Given the description of an element on the screen output the (x, y) to click on. 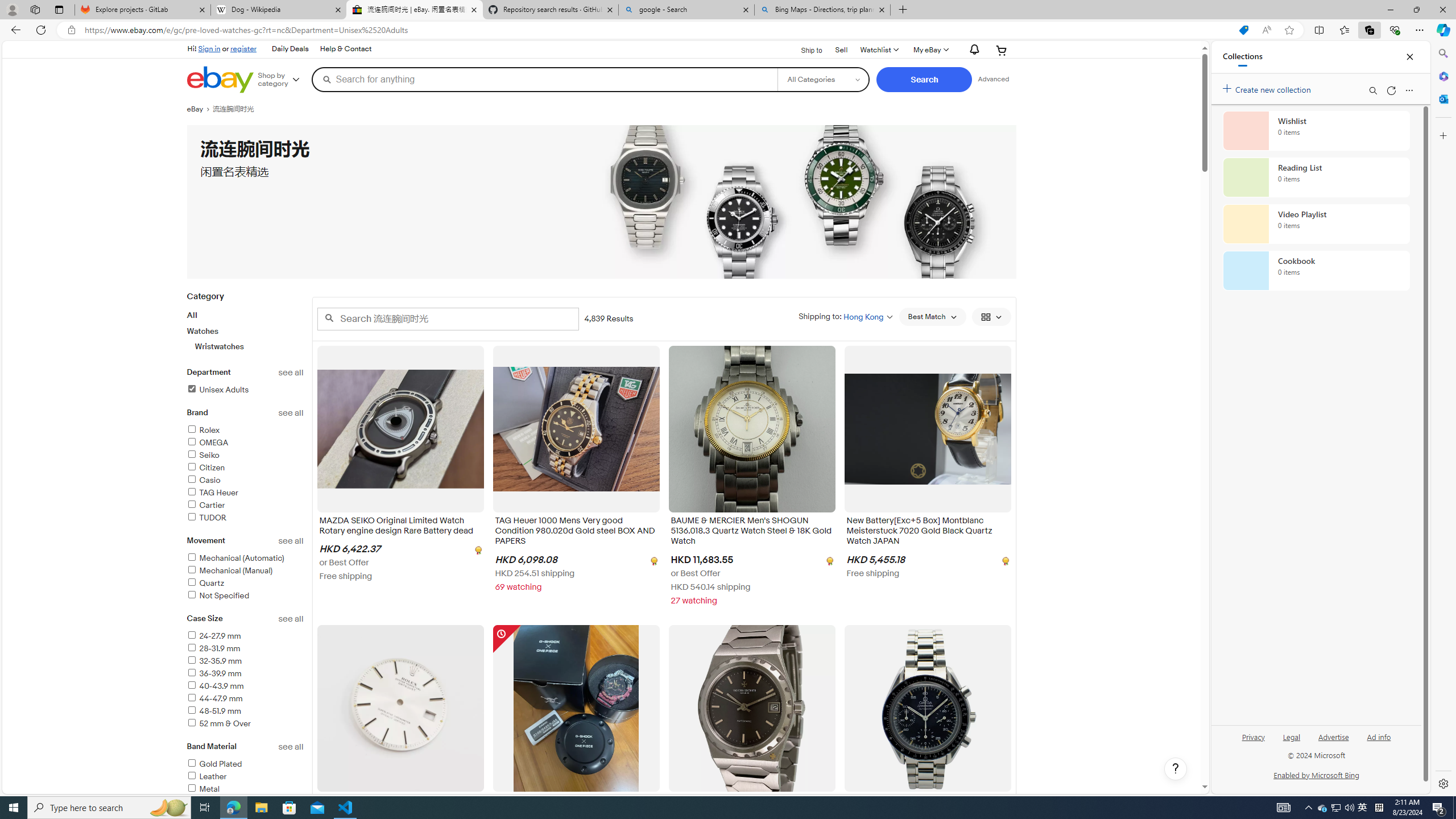
Ship to (804, 50)
Not Specified (217, 595)
Help, opens dialogs (1175, 768)
Casio (203, 479)
Gold Plated (245, 764)
Cookbook collection, 0 items (1316, 270)
